Given the description of an element on the screen output the (x, y) to click on. 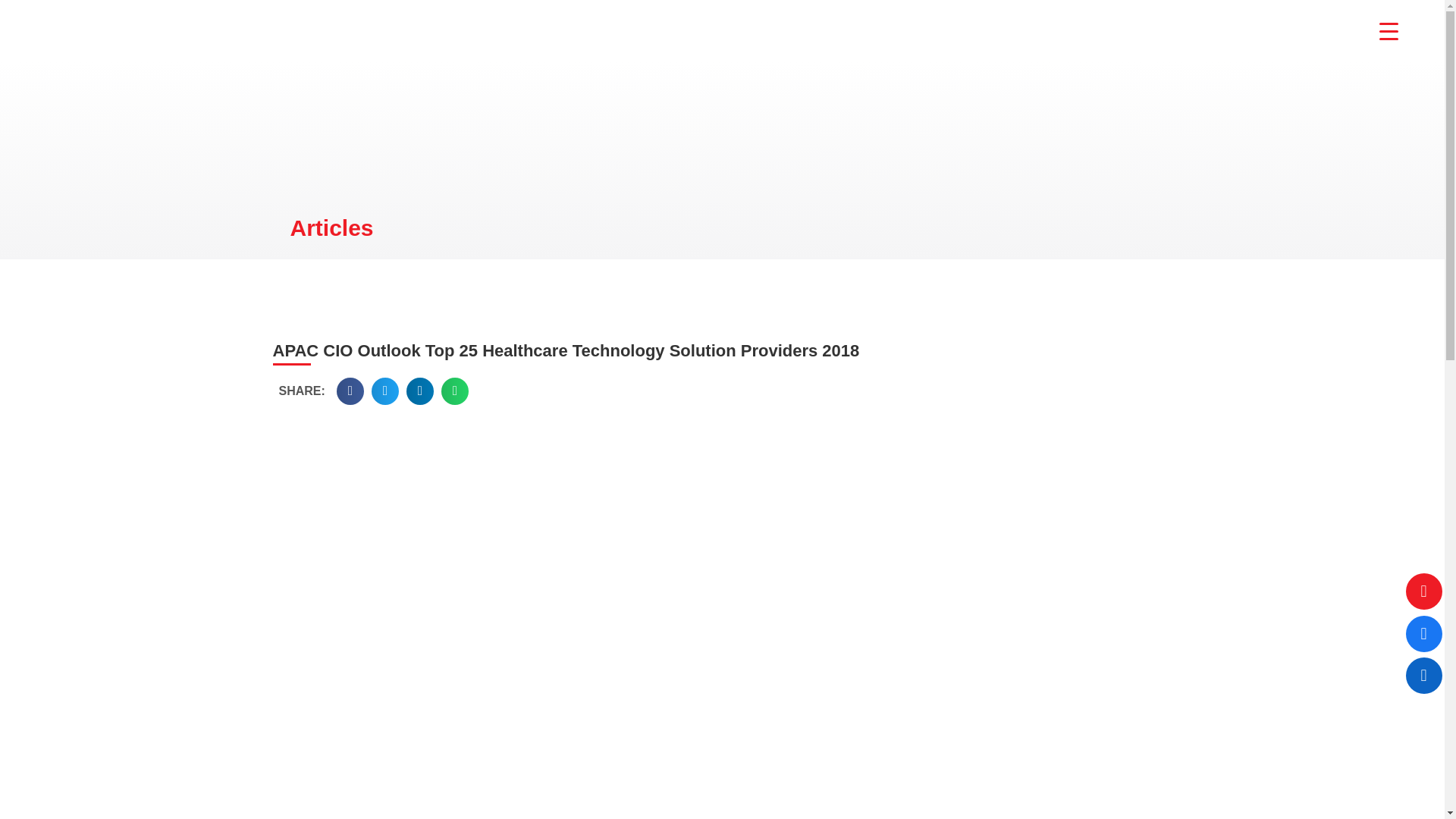
Articles (330, 227)
Search (60, 9)
